Given the description of an element on the screen output the (x, y) to click on. 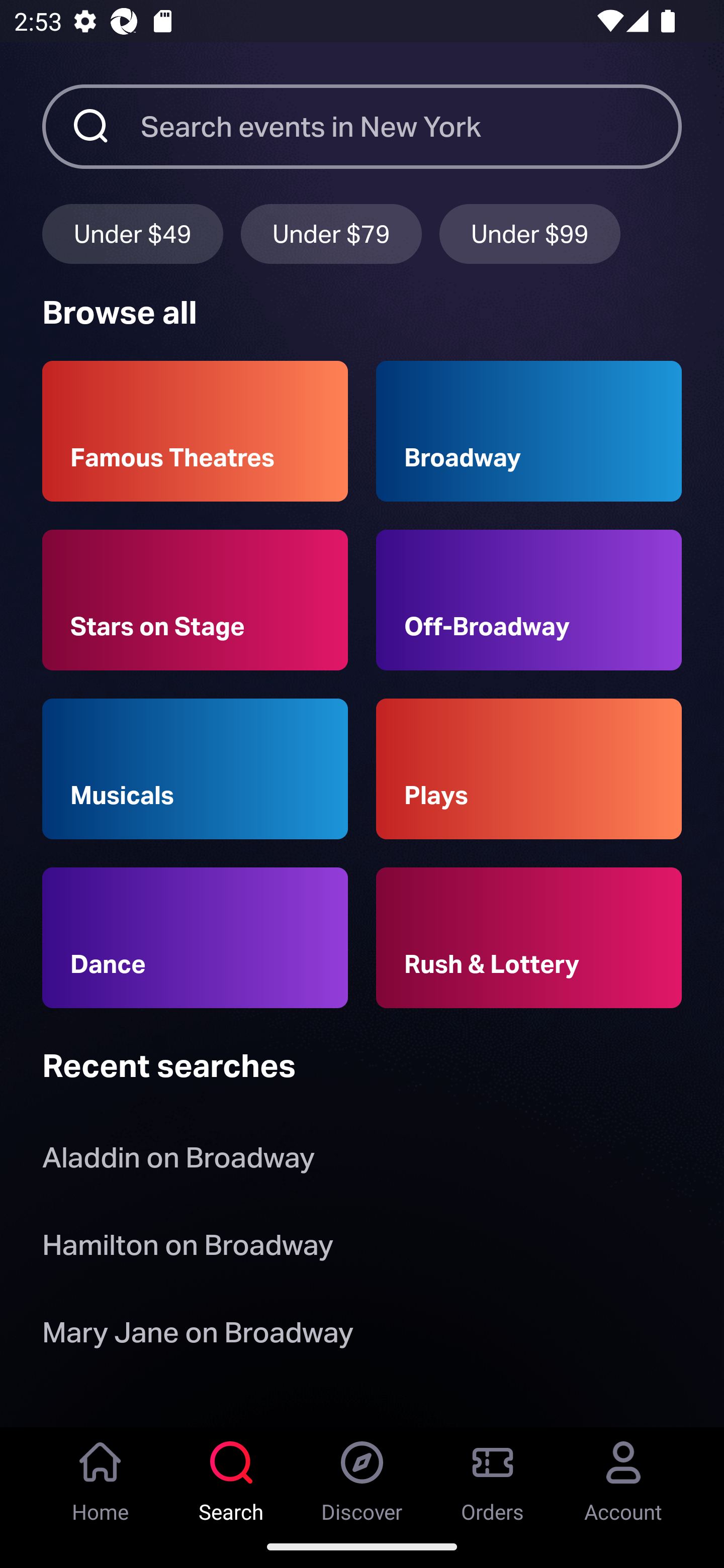
Search events in New York (411, 126)
Under $49 (131, 233)
Under $79 (331, 233)
Under $99 (529, 233)
Famous Theatres (194, 430)
Broadway (528, 430)
Stars on Stage (194, 600)
Off-Broadway (528, 600)
Musicals (194, 768)
Plays (528, 768)
Dance (194, 937)
Rush & Lottery (528, 937)
Aladdin on Broadway (177, 1161)
Hamilton on Broadway (187, 1248)
Mary Jane on Broadway (197, 1335)
Home (100, 1475)
Discover (361, 1475)
Orders (492, 1475)
Account (623, 1475)
